Given the description of an element on the screen output the (x, y) to click on. 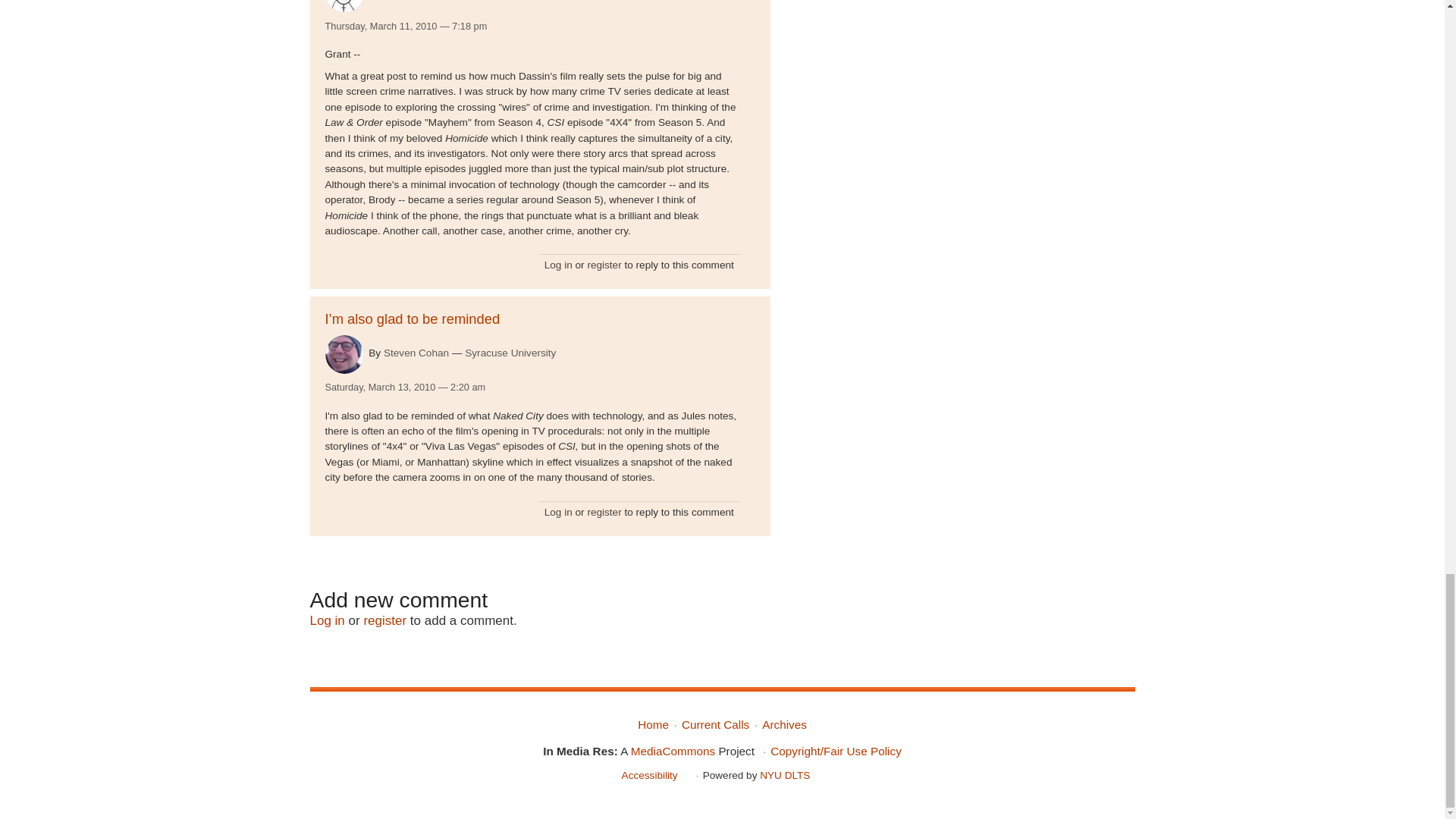
View user profile. (343, 6)
User profile: Steven Cohan (416, 352)
Duke University (540, 0)
View user profile. (343, 353)
Syracuse University (510, 352)
